Given the description of an element on the screen output the (x, y) to click on. 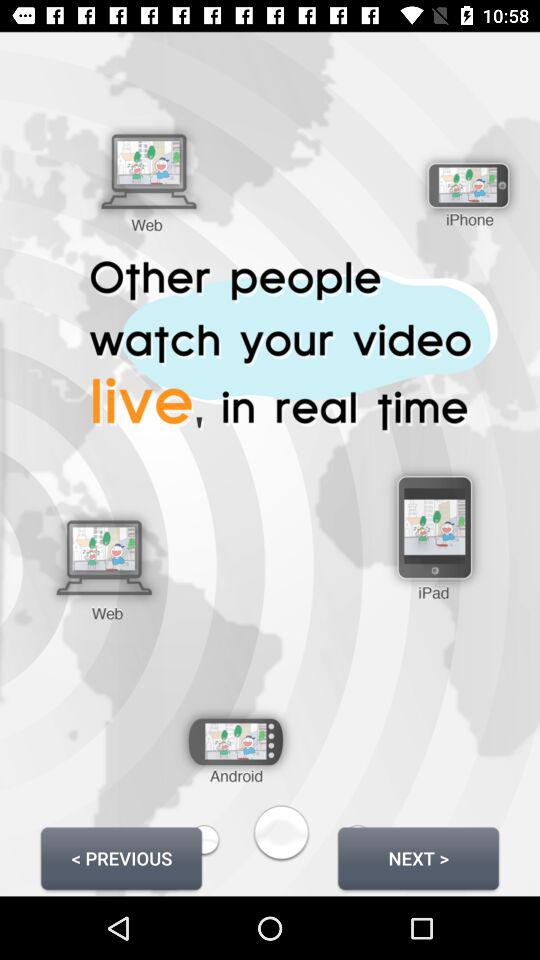
press next > at the bottom right corner (418, 858)
